Given the description of an element on the screen output the (x, y) to click on. 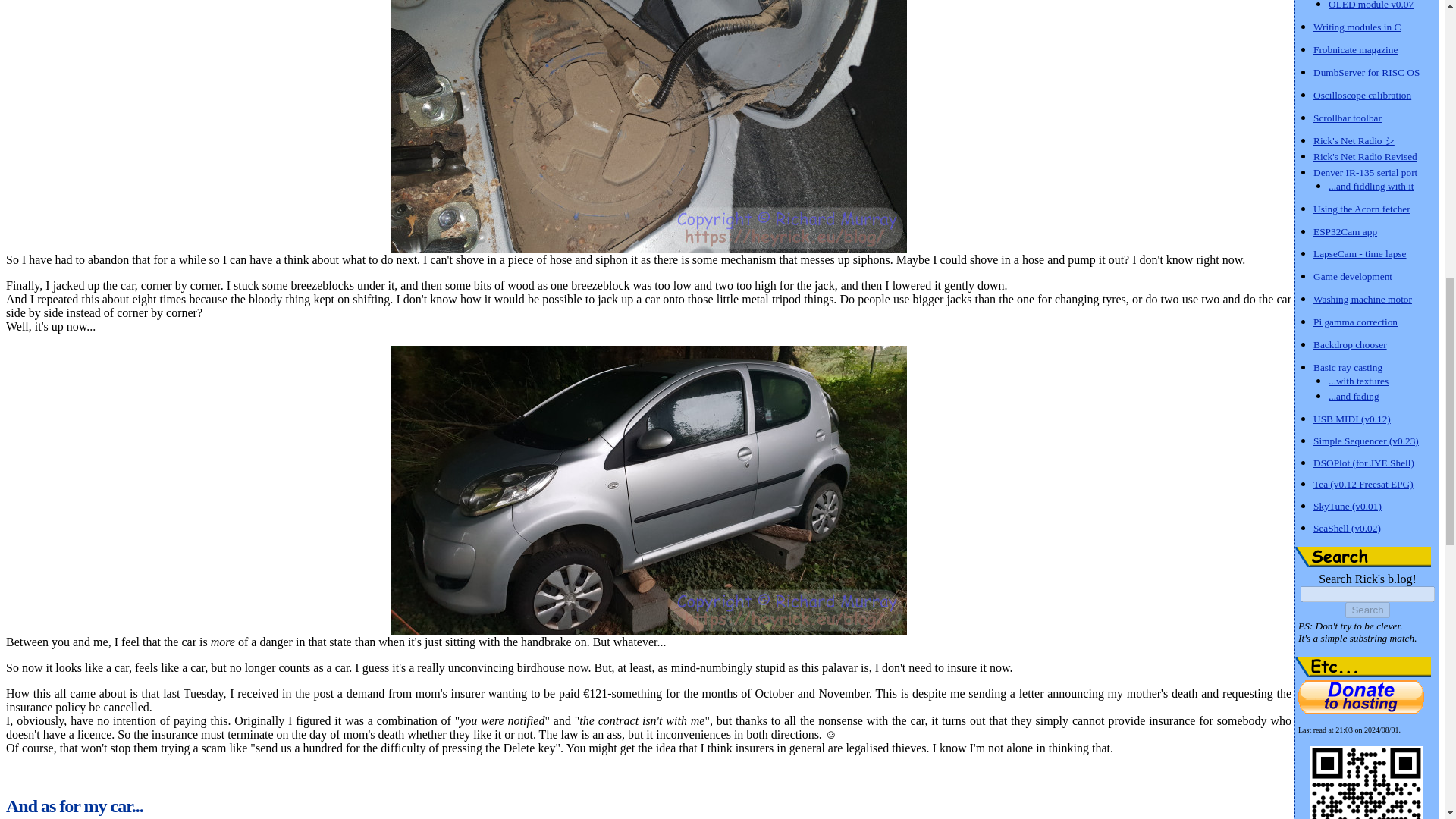
Frobnicate magazine (1355, 48)
Etc... (1363, 666)
Writing modules in C (1356, 25)
Search (1363, 557)
Search (1367, 609)
OLED module v0.07 (1370, 4)
